Given the description of an element on the screen output the (x, y) to click on. 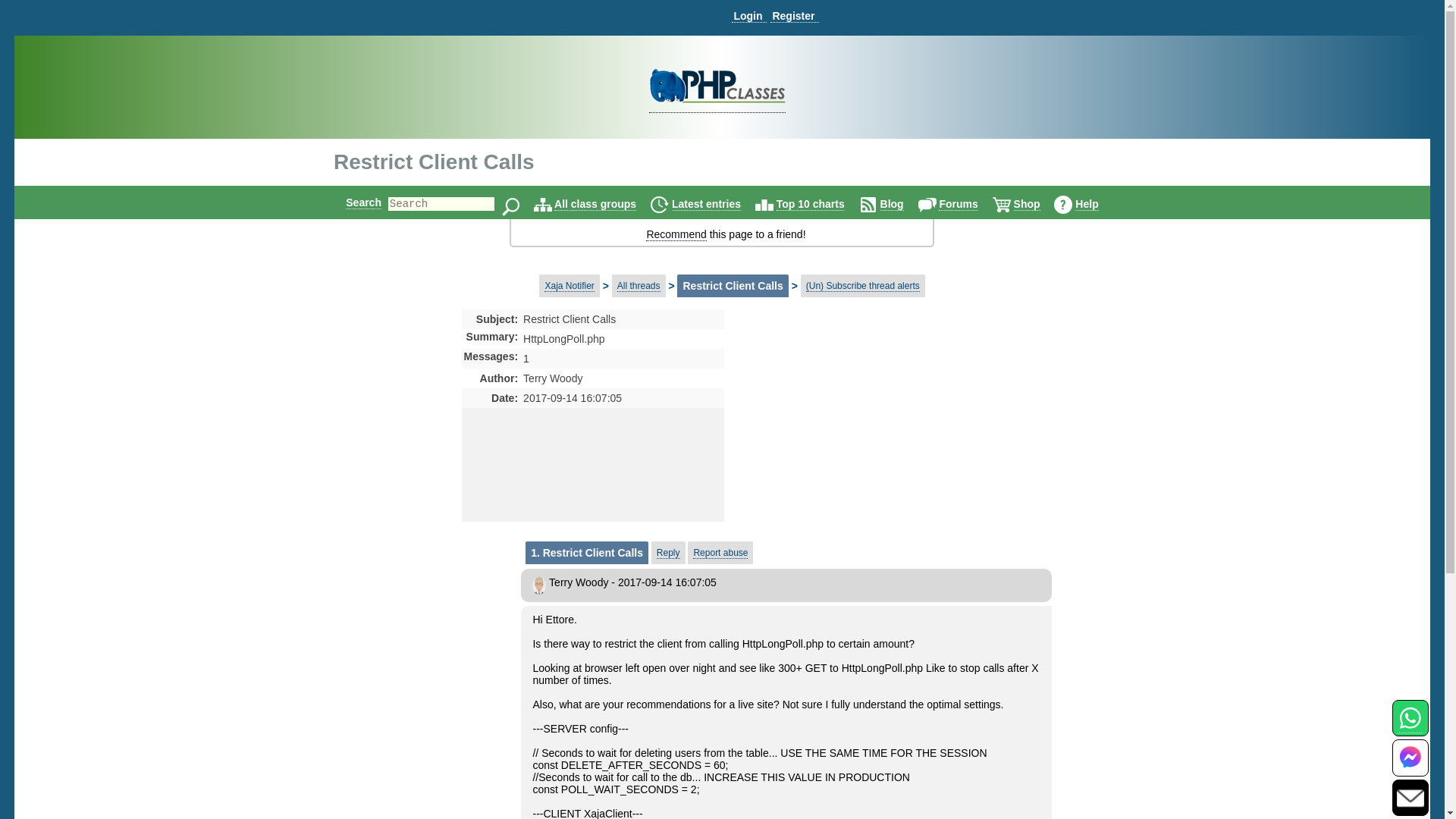
Xaja Notifier (569, 285)
Help (1086, 204)
Forums (957, 204)
All threads (639, 285)
Contact us using email (1409, 797)
Contact us using WhatsApp (1409, 726)
Blog (892, 204)
Shop (1027, 204)
Top 10 charts (810, 204)
All class groups (595, 204)
Reply (667, 552)
Recommend (676, 234)
Register (794, 15)
Search (363, 201)
Latest entries (706, 204)
